Given the description of an element on the screen output the (x, y) to click on. 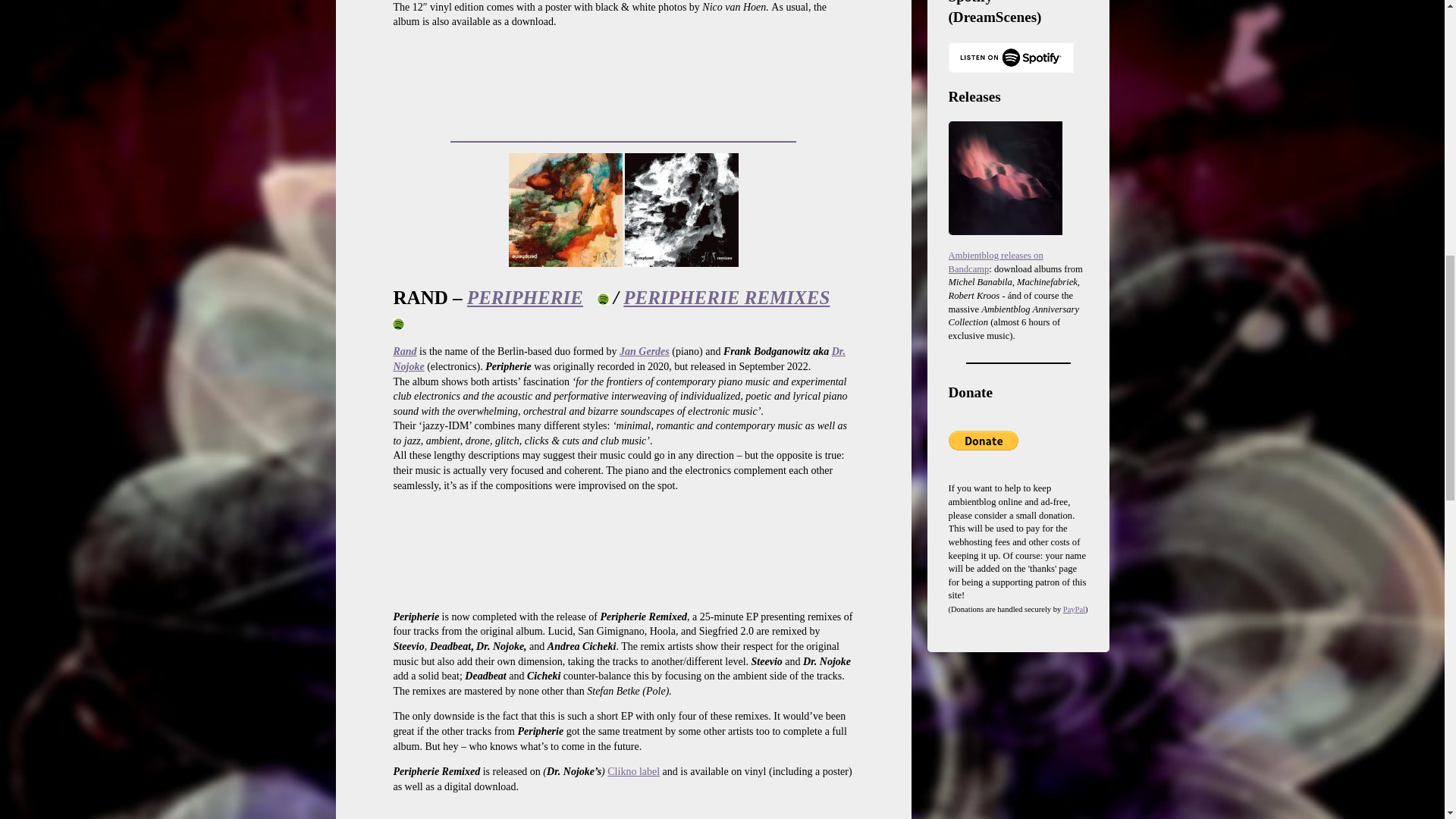
PERIPHERIE (525, 297)
PERIPHERIE REMIXES (726, 297)
